Given the description of an element on the screen output the (x, y) to click on. 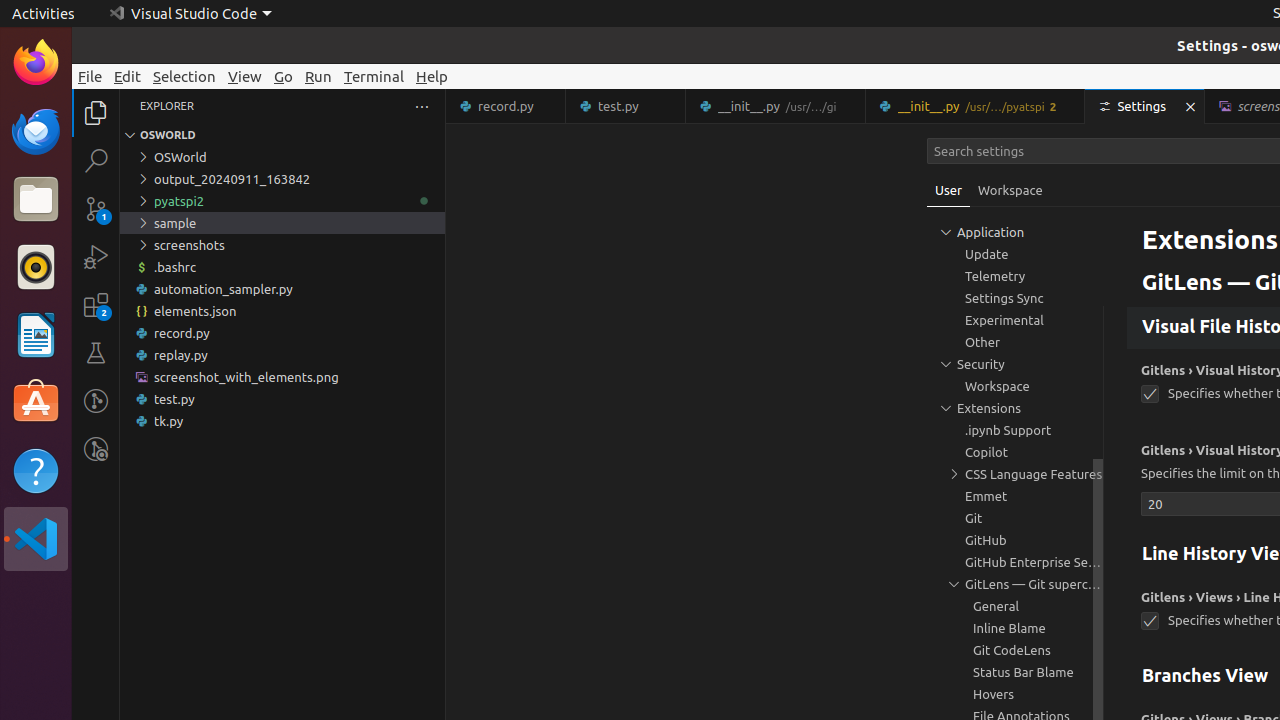
Go Element type: push-button (283, 76)
Update, group Element type: tree-item (1015, 254)
gitlens.advanced.fileHistoryShowMergeCommits Element type: check-box (1150, 272)
Experimental, group Element type: tree-item (1015, 320)
record.py Element type: page-tab (506, 106)
